Given the description of an element on the screen output the (x, y) to click on. 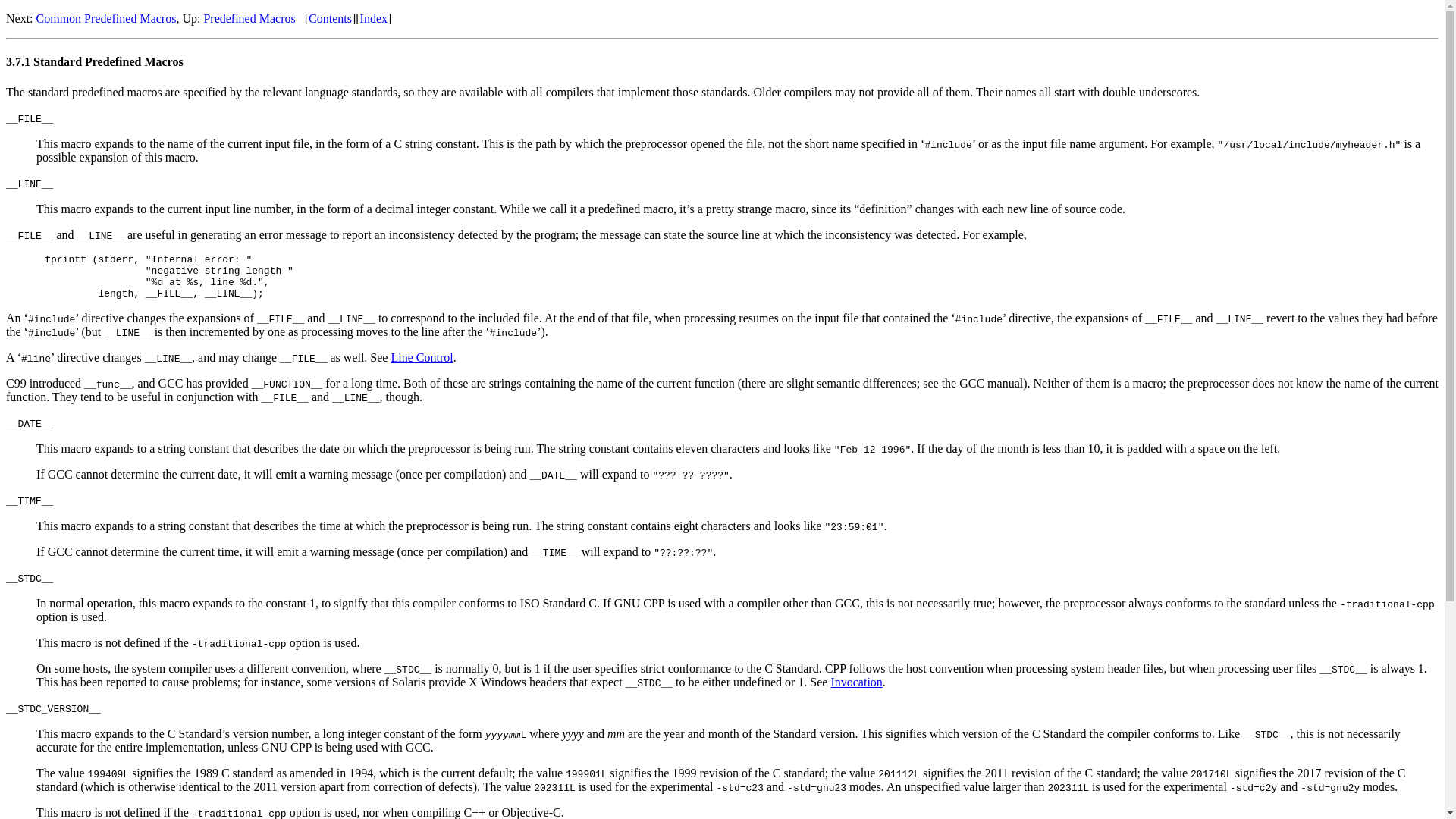
Index (373, 18)
Predefined Macros (249, 18)
Invocation (855, 681)
Line Control (421, 357)
Table of contents (330, 18)
Index (373, 18)
Contents (330, 18)
Common Predefined Macros (106, 18)
